Given the description of an element on the screen output the (x, y) to click on. 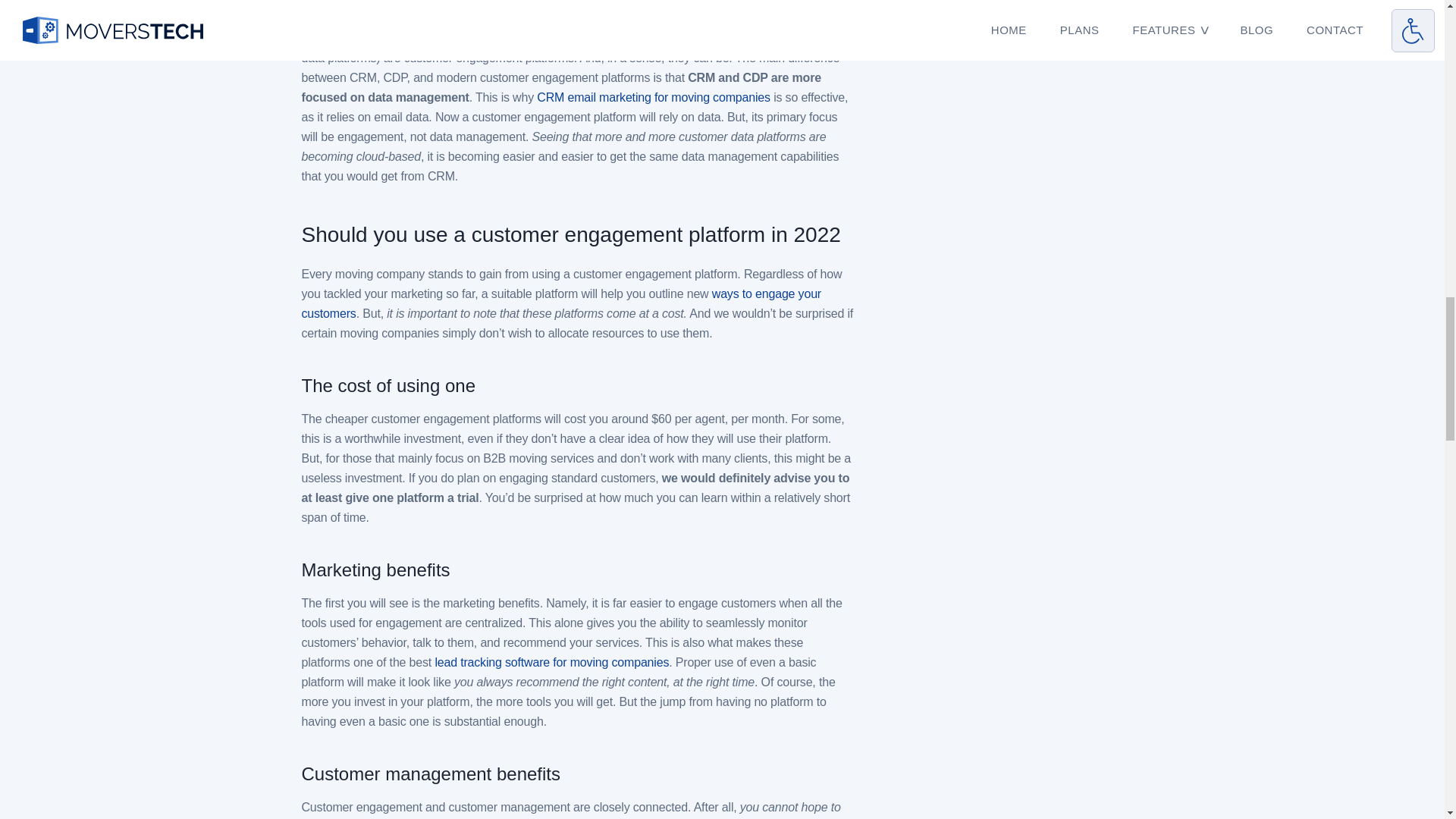
lead tracking software for moving companies (550, 662)
CRM email marketing for moving companies (653, 97)
ways to engage your customers (561, 303)
